Given the description of an element on the screen output the (x, y) to click on. 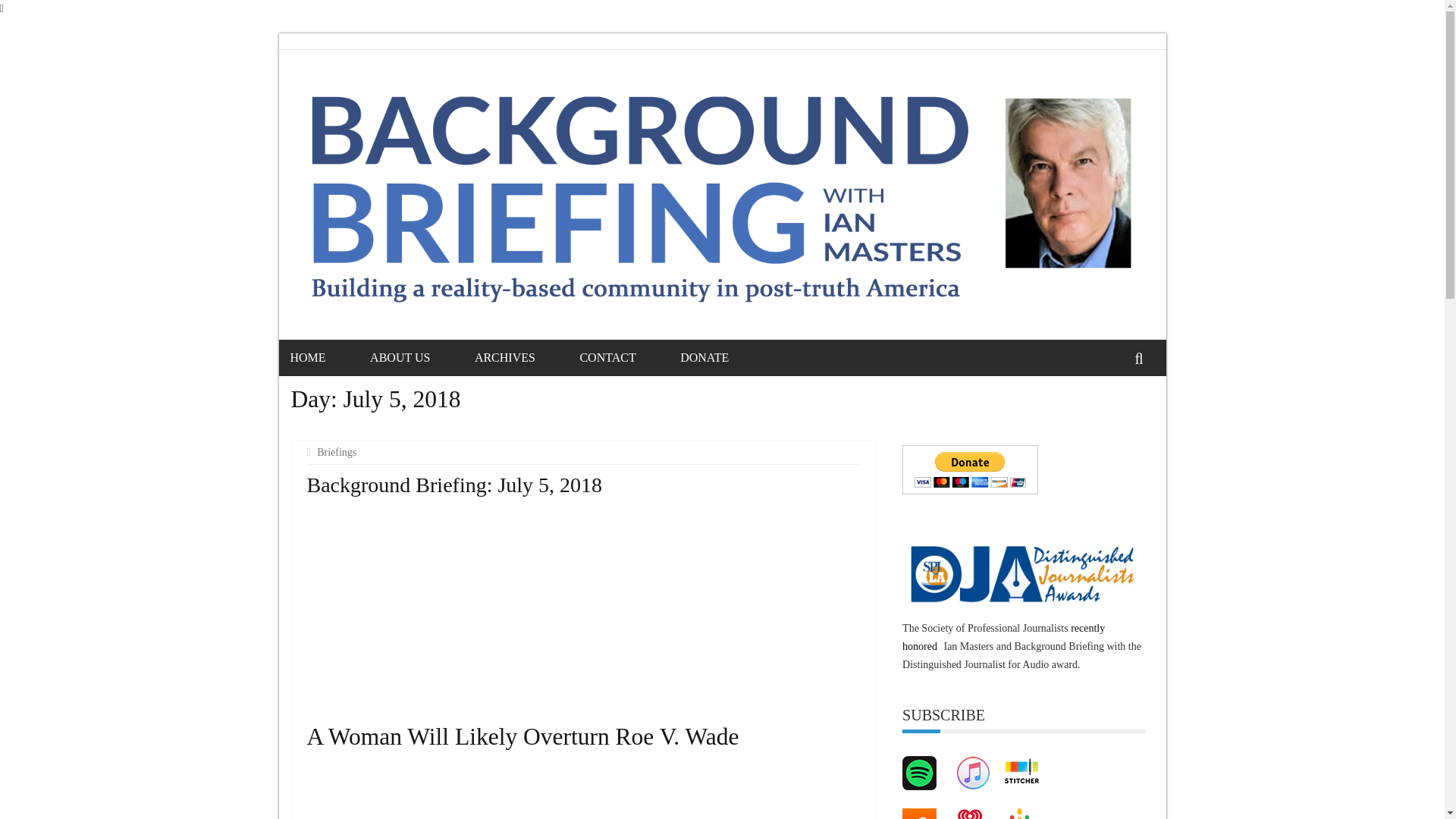
CONTACT (625, 357)
Background Briefing: July 5, 2018 (453, 484)
recently honored (1003, 636)
ABOUT US (418, 357)
PayPal - The safer, easier way to pay online! (970, 469)
Briefings (338, 451)
HOME (325, 357)
DONATE (723, 357)
BACKGROUND BRIEFING (413, 120)
